Given the description of an element on the screen output the (x, y) to click on. 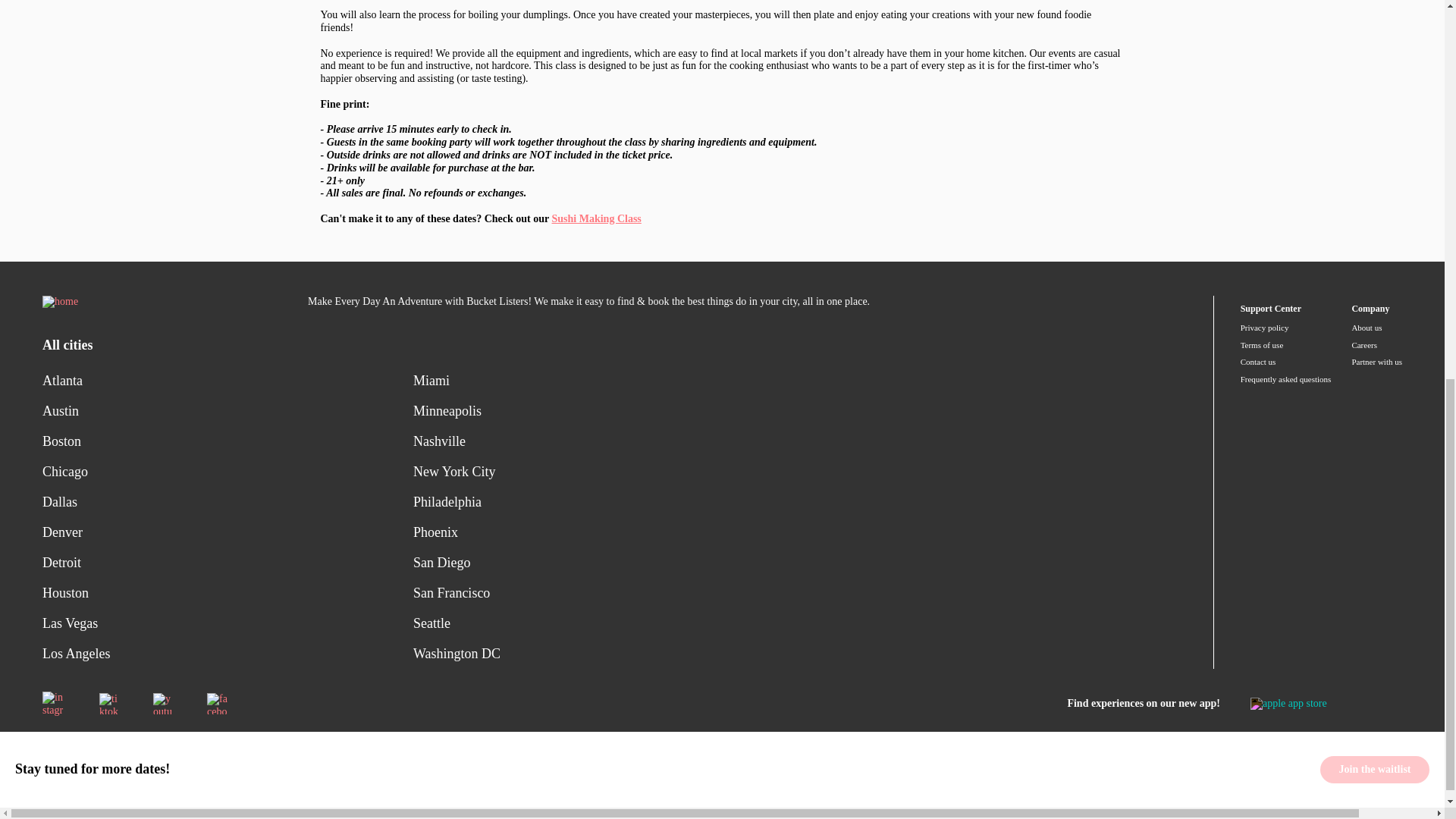
San Diego (608, 562)
Los Angeles (227, 653)
San Francisco (608, 593)
Phoenix (608, 531)
Philadelphia (608, 501)
Atlanta (227, 380)
Detroit (227, 562)
Seattle (608, 623)
Washington DC (608, 653)
New York City (608, 471)
